Given the description of an element on the screen output the (x, y) to click on. 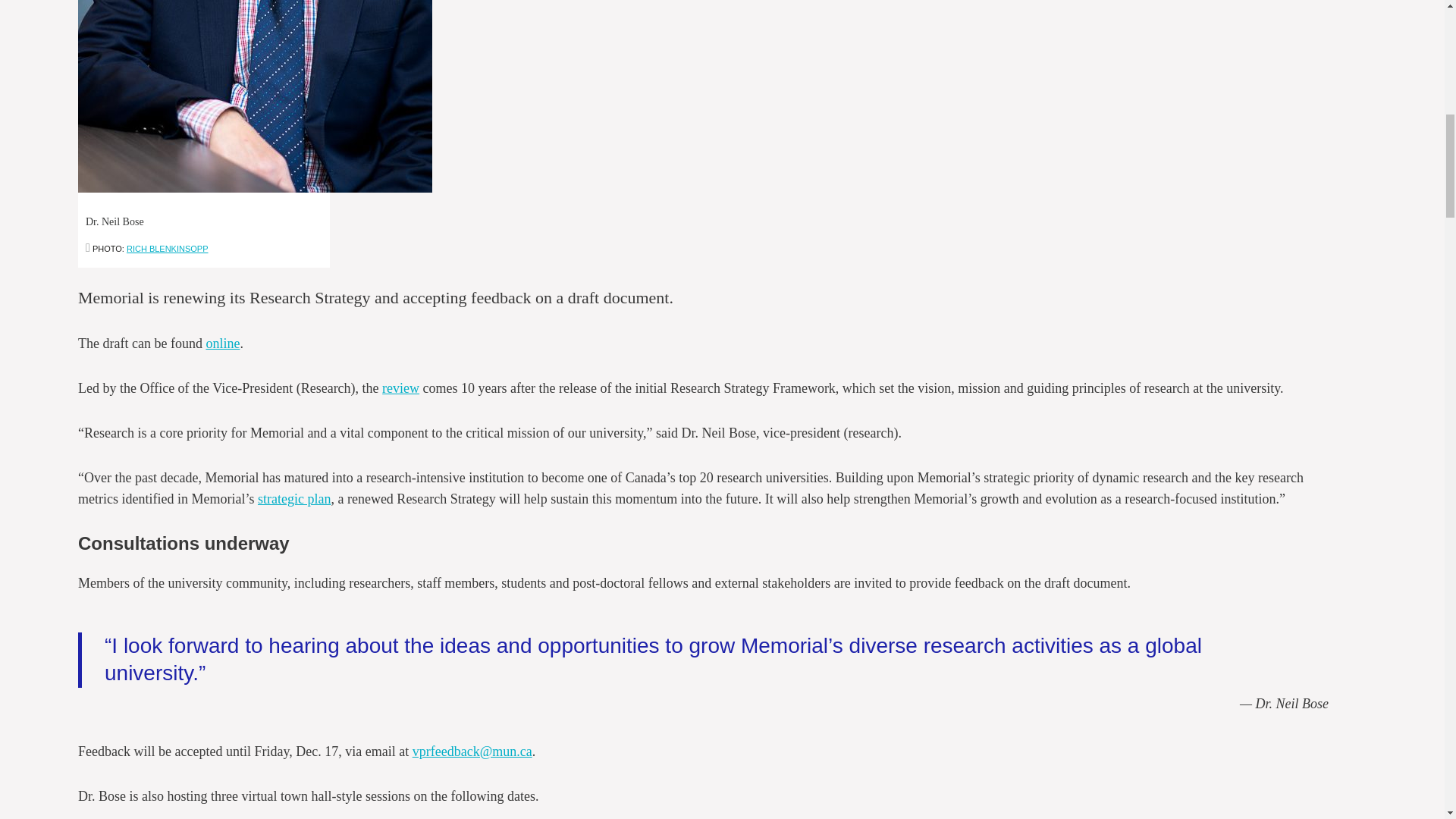
online (222, 343)
review (400, 387)
strategic plan (293, 498)
RICH BLENKINSOPP (167, 248)
